Given the description of an element on the screen output the (x, y) to click on. 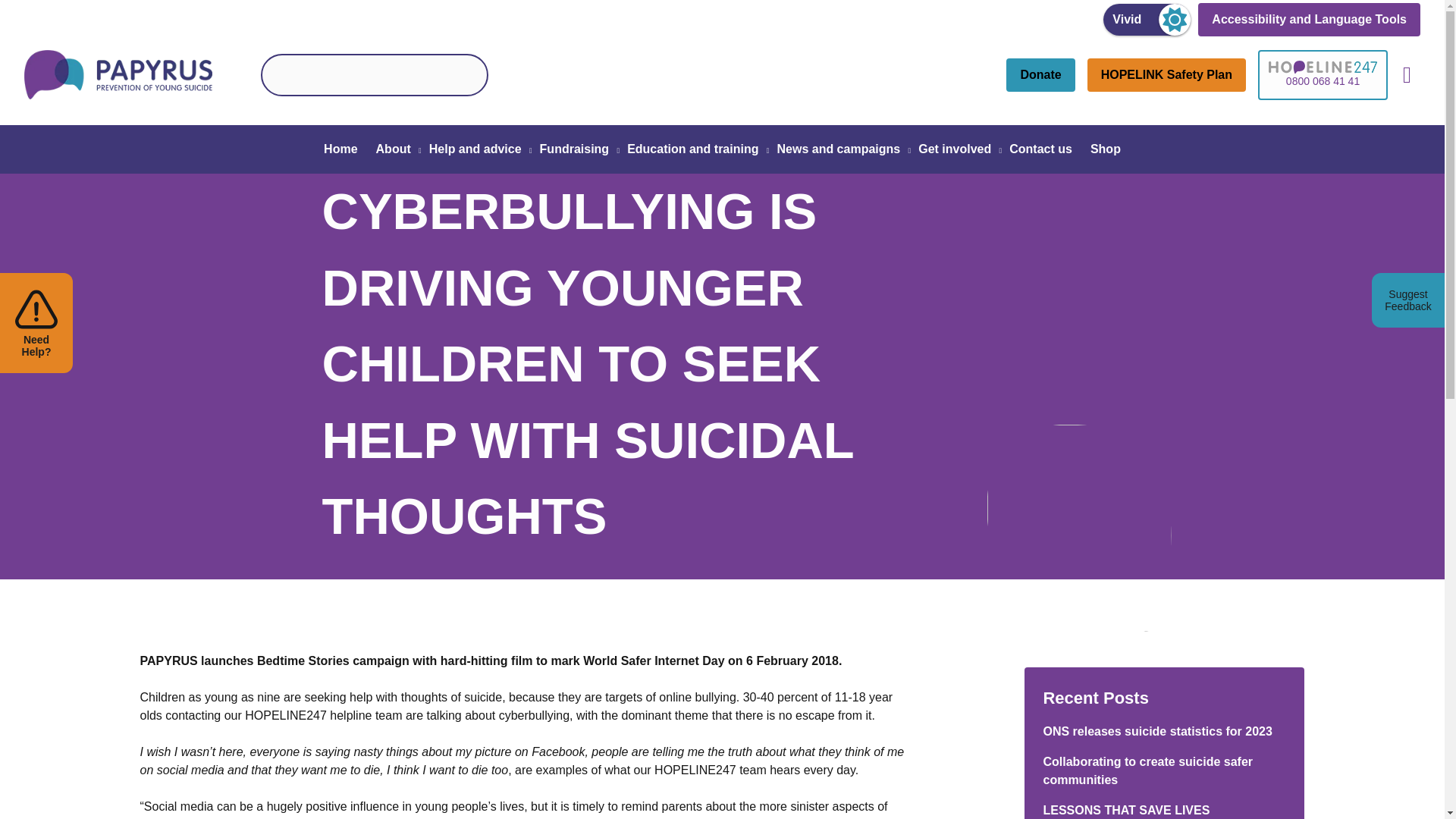
HOPELINK Safety Plan (1166, 73)
Donate (1040, 73)
Accessibility and Language Tools (1309, 19)
About (393, 149)
Help and advice (475, 149)
0800 068 41 41 (1322, 74)
Home (340, 149)
